Given the description of an element on the screen output the (x, y) to click on. 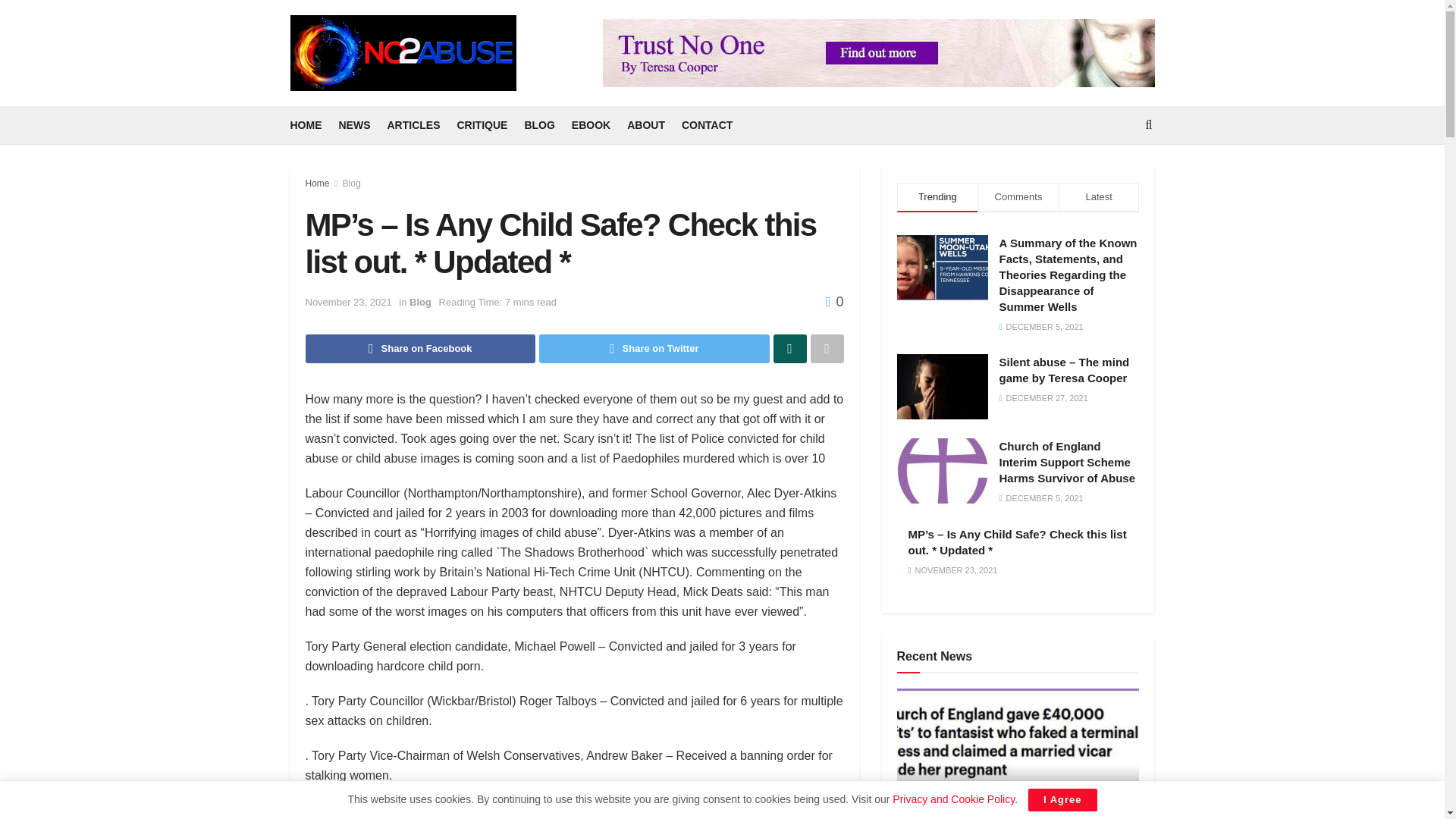
Blog (419, 301)
November 23, 2021 (347, 301)
0 (834, 301)
Share on Facebook (419, 348)
Interim support scheme - No 2 Abuse (941, 470)
EBOOK (591, 125)
Home (316, 183)
Share on Twitter (654, 348)
ABOUT (646, 125)
CRITIQUE (481, 125)
ARTICLES (413, 125)
silentabuse - No 2 Abuse (941, 386)
Blog (351, 183)
CONTACT (706, 125)
summer billboard - No 2 Abuse (941, 267)
